Given the description of an element on the screen output the (x, y) to click on. 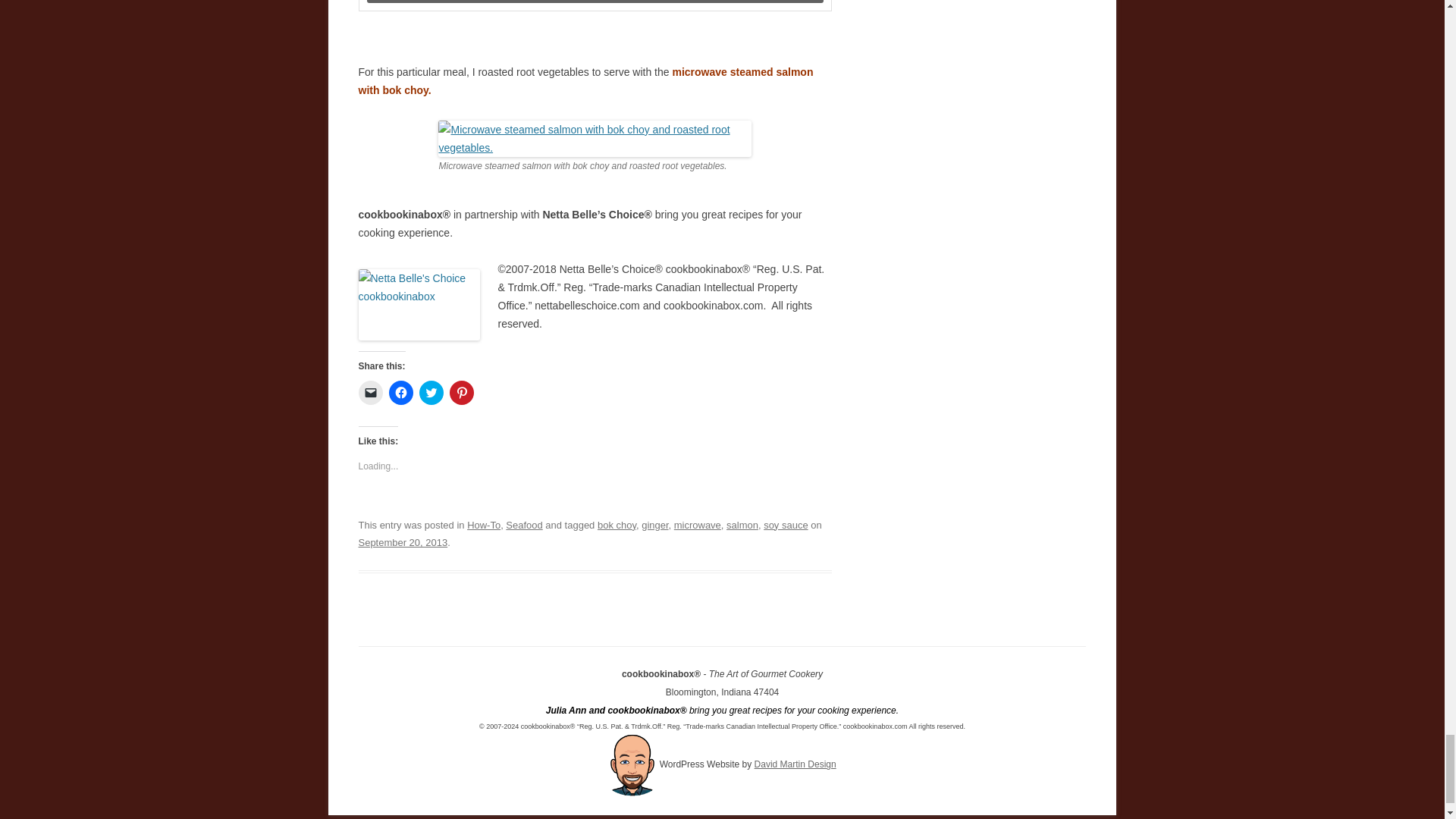
Click to email a link to a friend (369, 392)
